Given the description of an element on the screen output the (x, y) to click on. 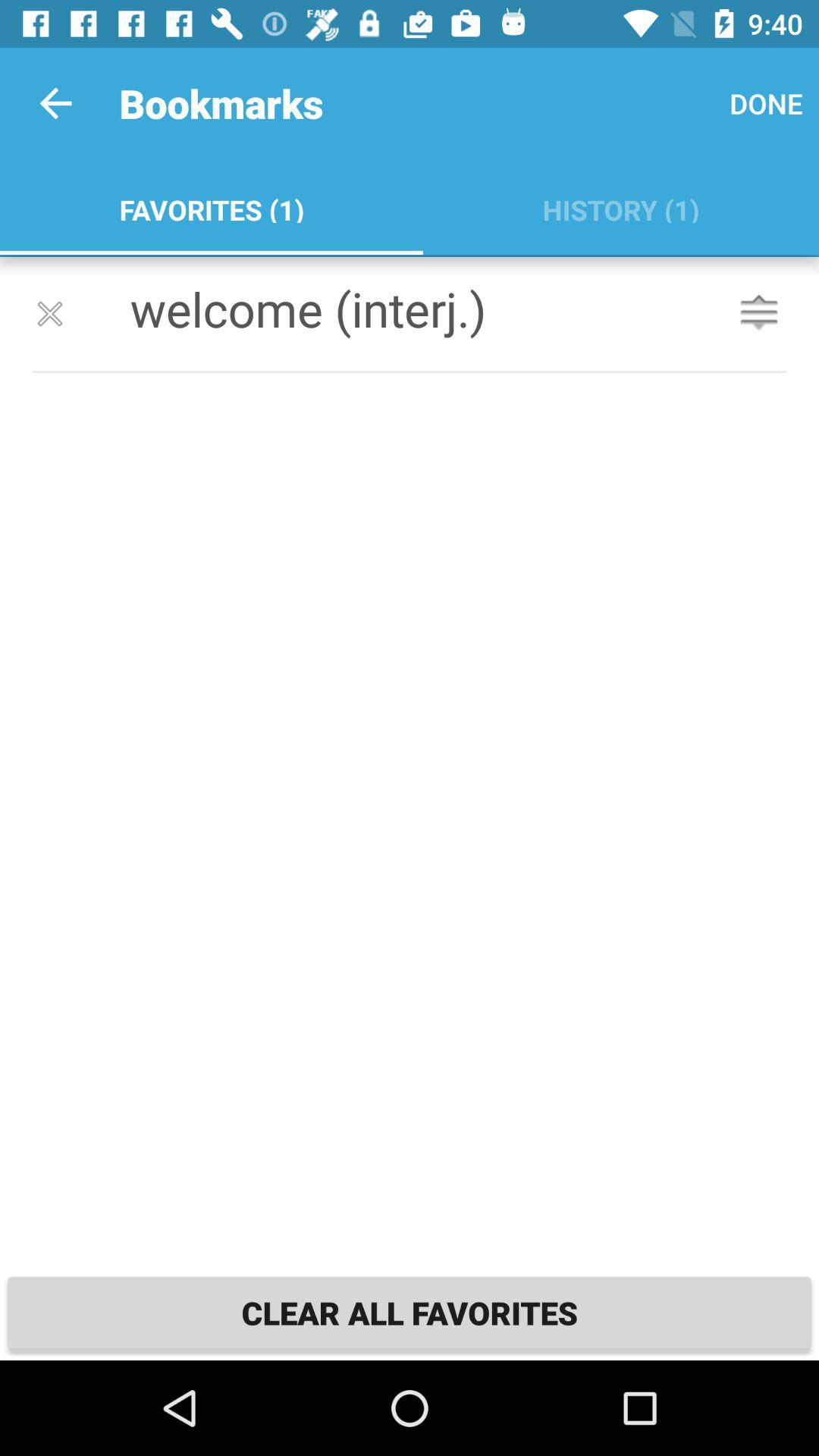
turn off app to the right of the favorites (1) (621, 206)
